Given the description of an element on the screen output the (x, y) to click on. 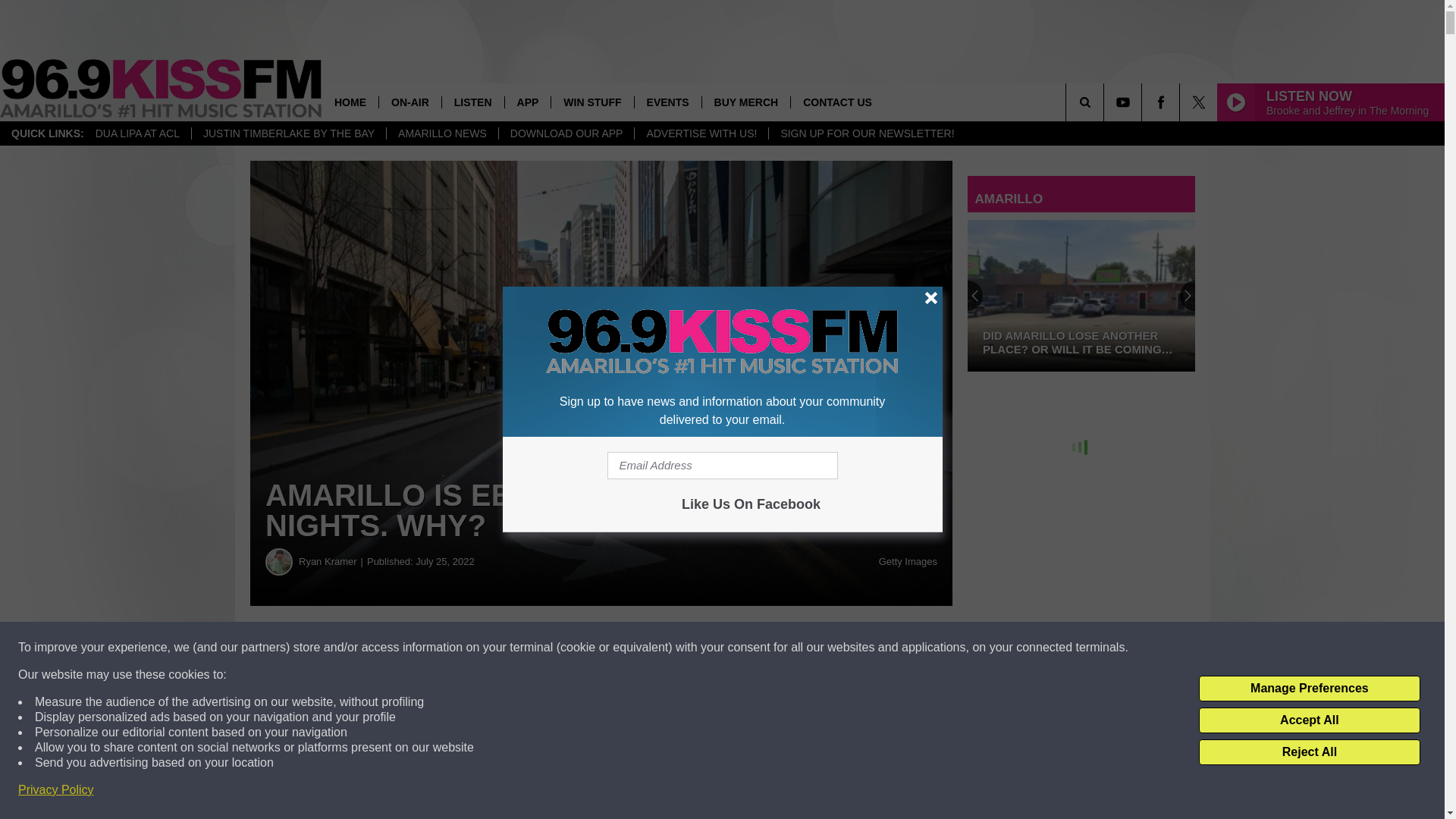
AMARILLO NEWS (441, 133)
APP (527, 102)
Email Address (722, 465)
ADVERTISE WITH US! (700, 133)
ON-AIR (409, 102)
SIGN UP FOR OUR NEWSLETTER! (866, 133)
BUY MERCH (745, 102)
Share on Twitter (741, 647)
WIN STUFF (591, 102)
SEARCH (1106, 102)
DOWNLOAD OUR APP (565, 133)
Manage Preferences (1309, 688)
JUSTIN TIMBERLAKE BY THE BAY (287, 133)
Reject All (1309, 751)
Privacy Policy (55, 789)
